Given the description of an element on the screen output the (x, y) to click on. 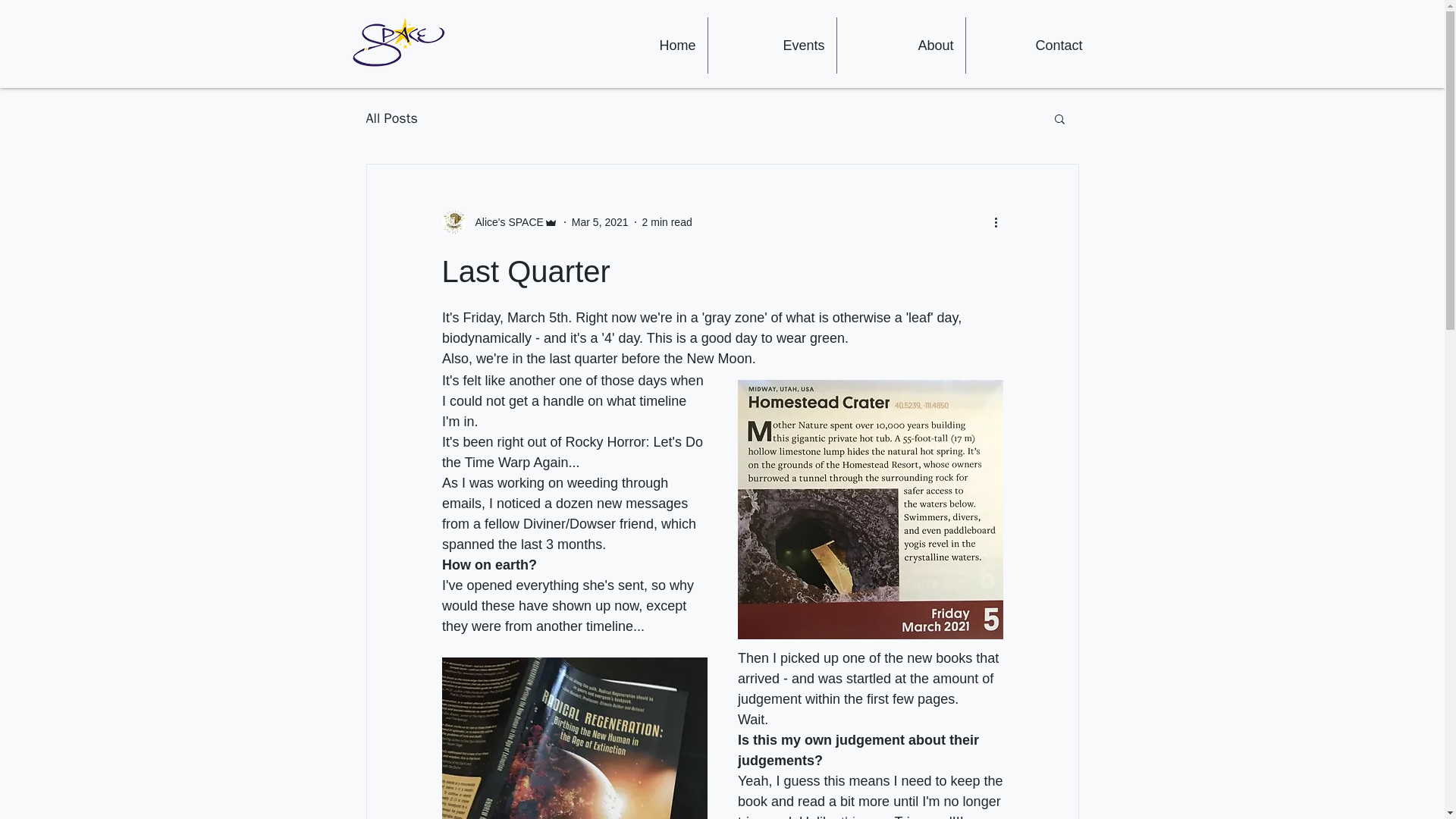
Mar 5, 2021 (600, 221)
Home (642, 45)
2 min read (667, 221)
All Posts (390, 117)
Contact (1028, 45)
Alice's SPACE (504, 221)
Alice's SPACE (499, 221)
Events (770, 45)
this guy (863, 816)
About (899, 45)
